Given the description of an element on the screen output the (x, y) to click on. 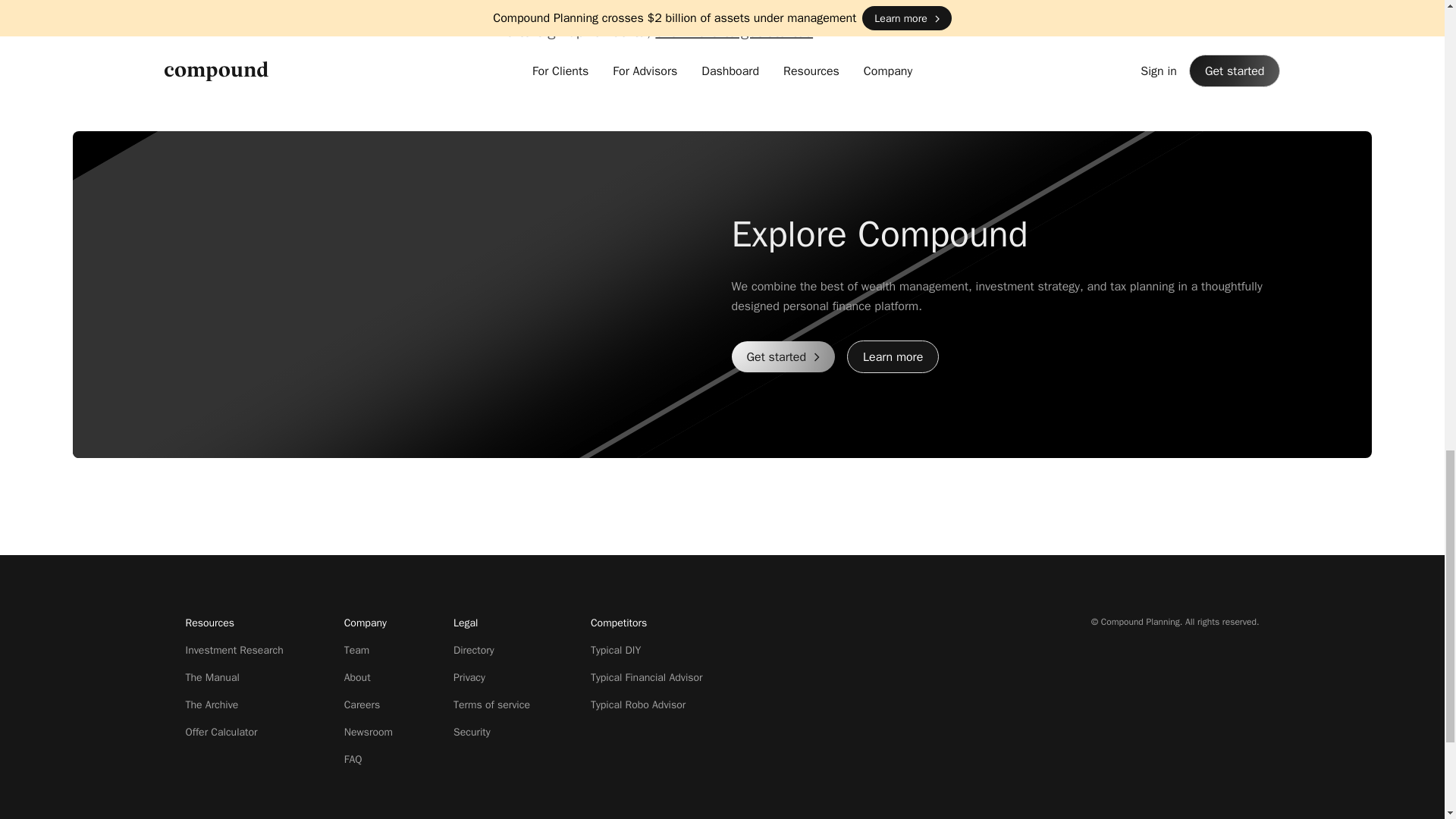
Investment Research (233, 649)
Typical Robo Advisor (638, 704)
Terms of service (490, 704)
Get started (782, 356)
Learn more (893, 356)
learn more here. (832, 9)
The Archive (211, 704)
About (357, 676)
Typical Financial Advisor (647, 676)
Team (356, 649)
Privacy (468, 676)
Security (471, 731)
Directory (473, 649)
The Manual (211, 676)
click here to get started (733, 31)
